Given the description of an element on the screen output the (x, y) to click on. 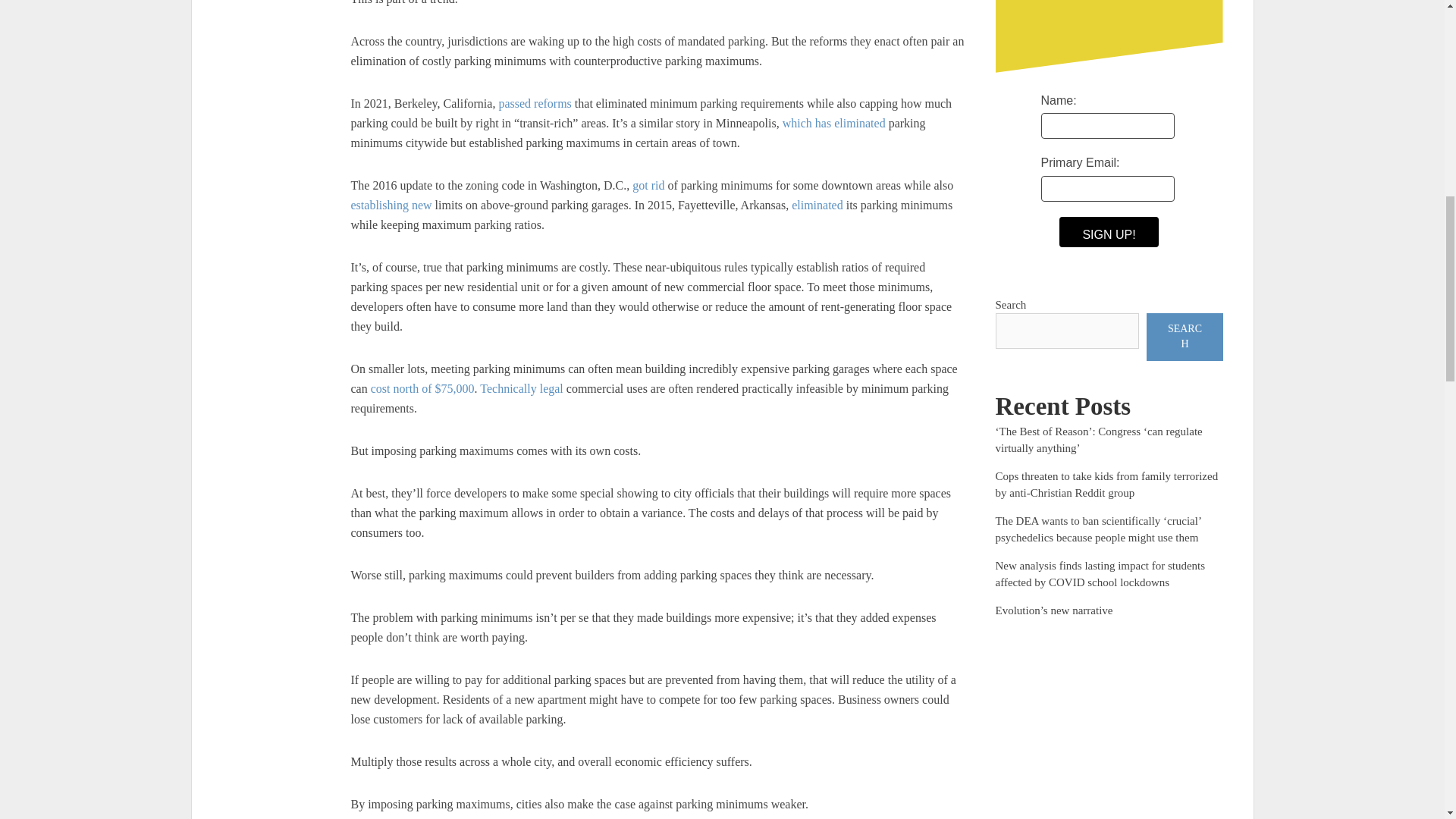
SIGN UP! (1108, 232)
